Given the description of an element on the screen output the (x, y) to click on. 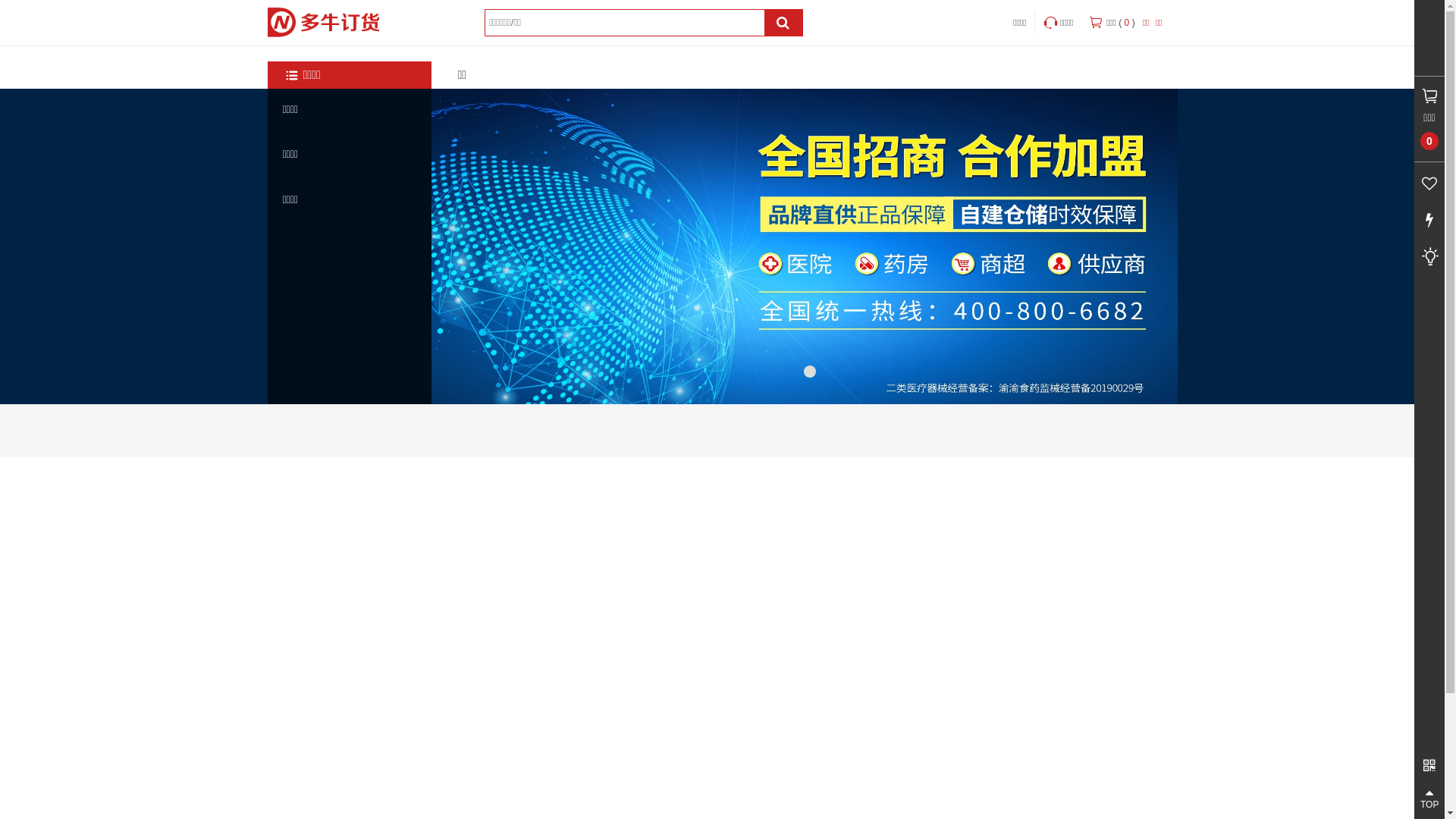
1 Element type: text (809, 371)
